Given the description of an element on the screen output the (x, y) to click on. 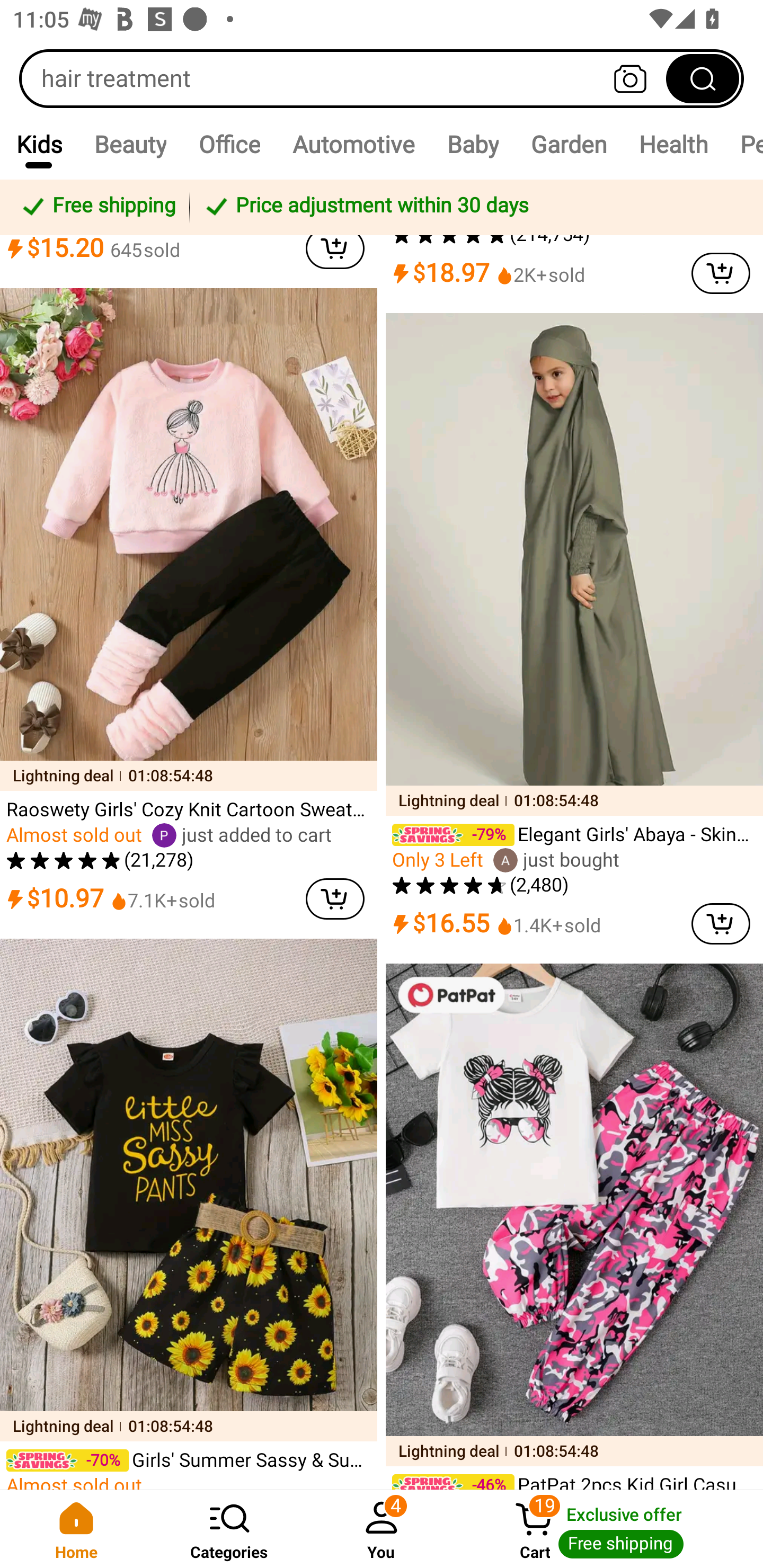
hair treatment (381, 78)
Kids (38, 144)
Beauty (129, 144)
Office (229, 144)
Automotive (353, 144)
Baby (472, 144)
Garden (568, 144)
Health (673, 144)
Free shipping (97, 206)
Price adjustment within 30 days (472, 206)
cart delete (334, 252)
cart delete (720, 273)
cart delete (334, 898)
cart delete (720, 923)
Home (76, 1528)
Categories (228, 1528)
You 4 You (381, 1528)
Cart 19 Cart Exclusive offer (610, 1528)
